Given the description of an element on the screen output the (x, y) to click on. 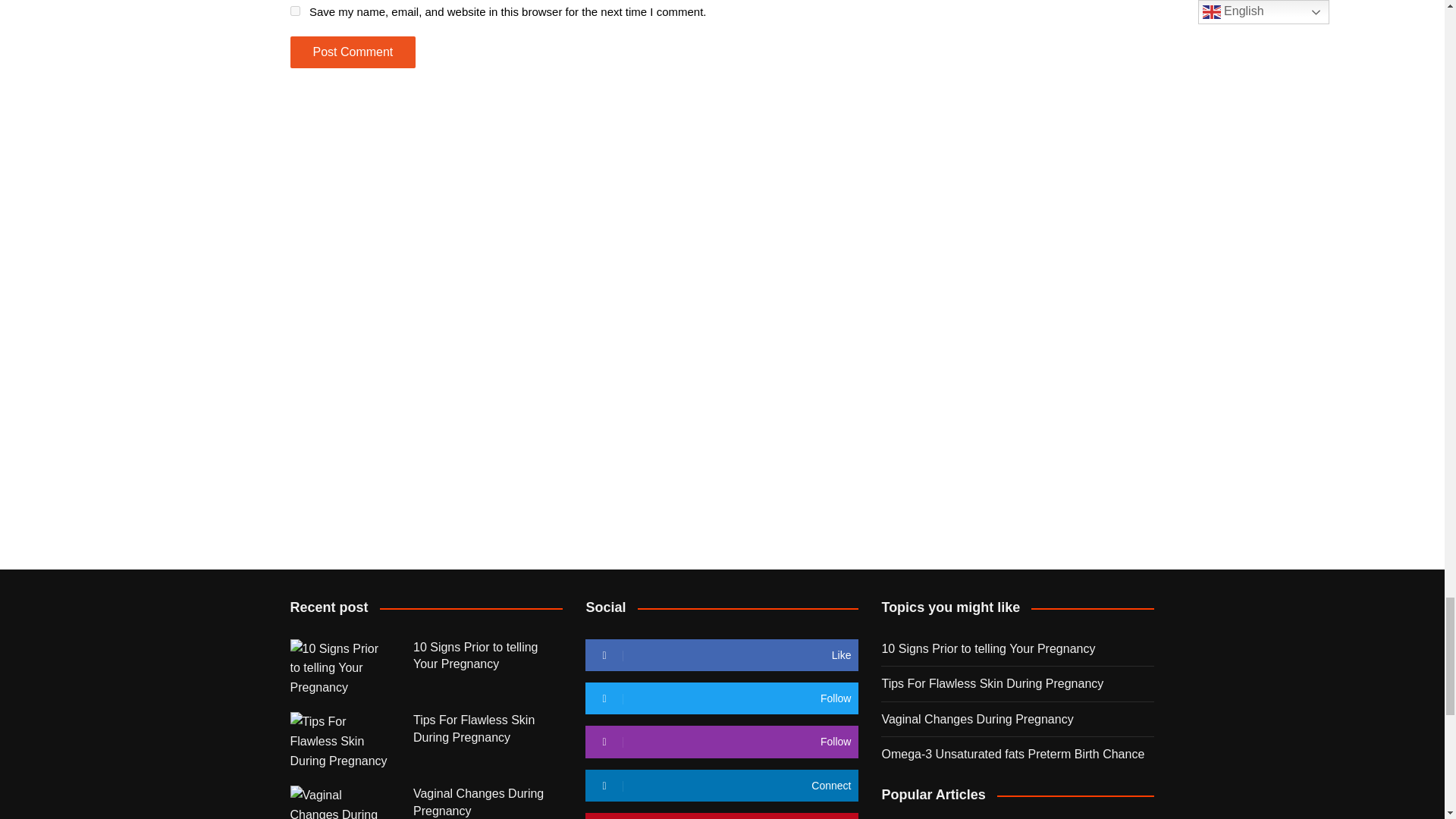
yes (294, 10)
Post Comment (351, 51)
